Given the description of an element on the screen output the (x, y) to click on. 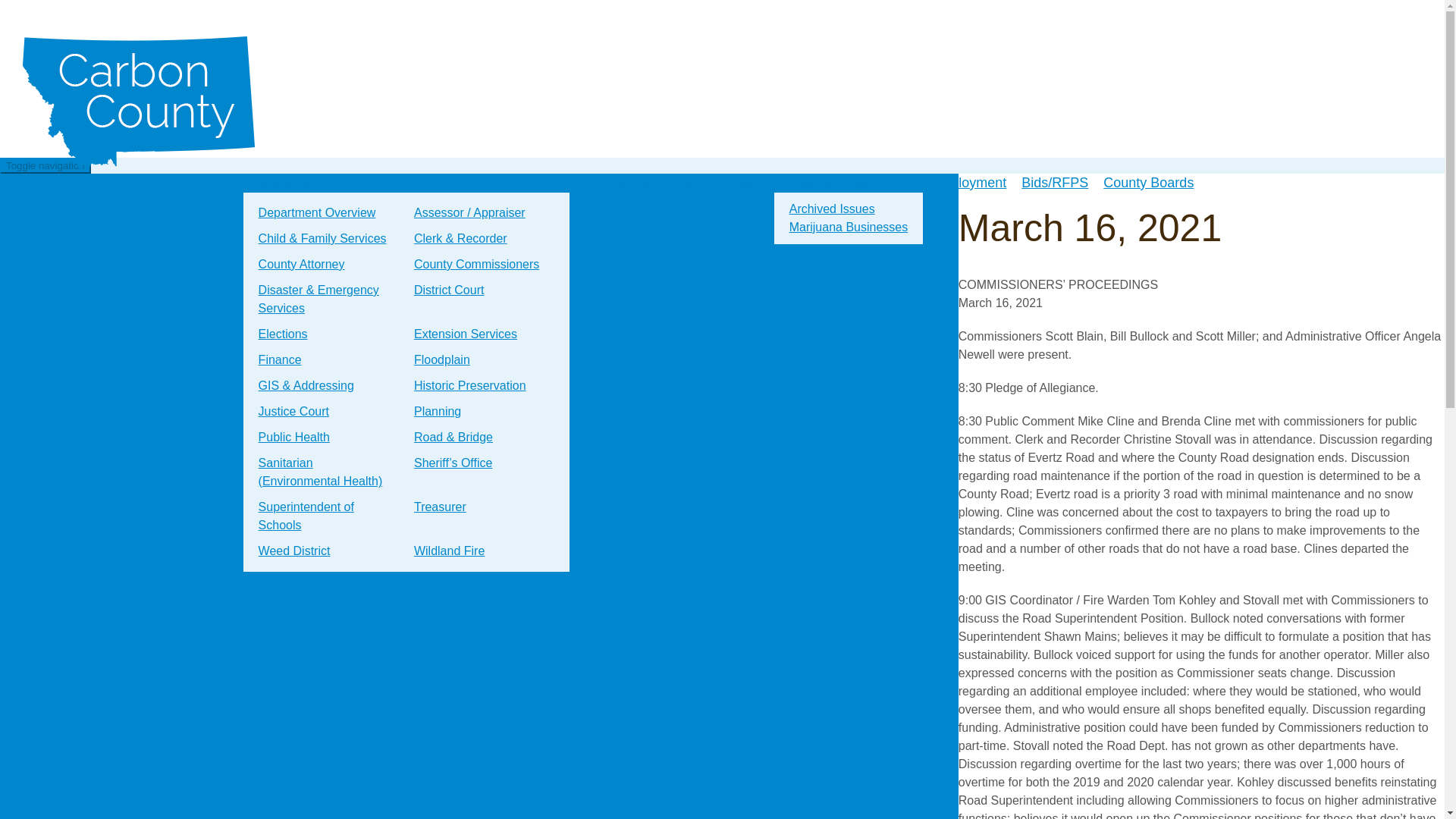
Marijuana Businesses (848, 227)
Toggle navigation (45, 165)
Extension Services (465, 334)
Finance (279, 360)
Contacts (739, 182)
Carbon County (138, 102)
Department Overview (317, 212)
Floodplain (441, 360)
District Court (449, 290)
Justice Court (293, 411)
Department Overview (317, 212)
Elections (282, 334)
Justice Court (293, 411)
Departments (289, 182)
Archived Issues (831, 209)
